Given the description of an element on the screen output the (x, y) to click on. 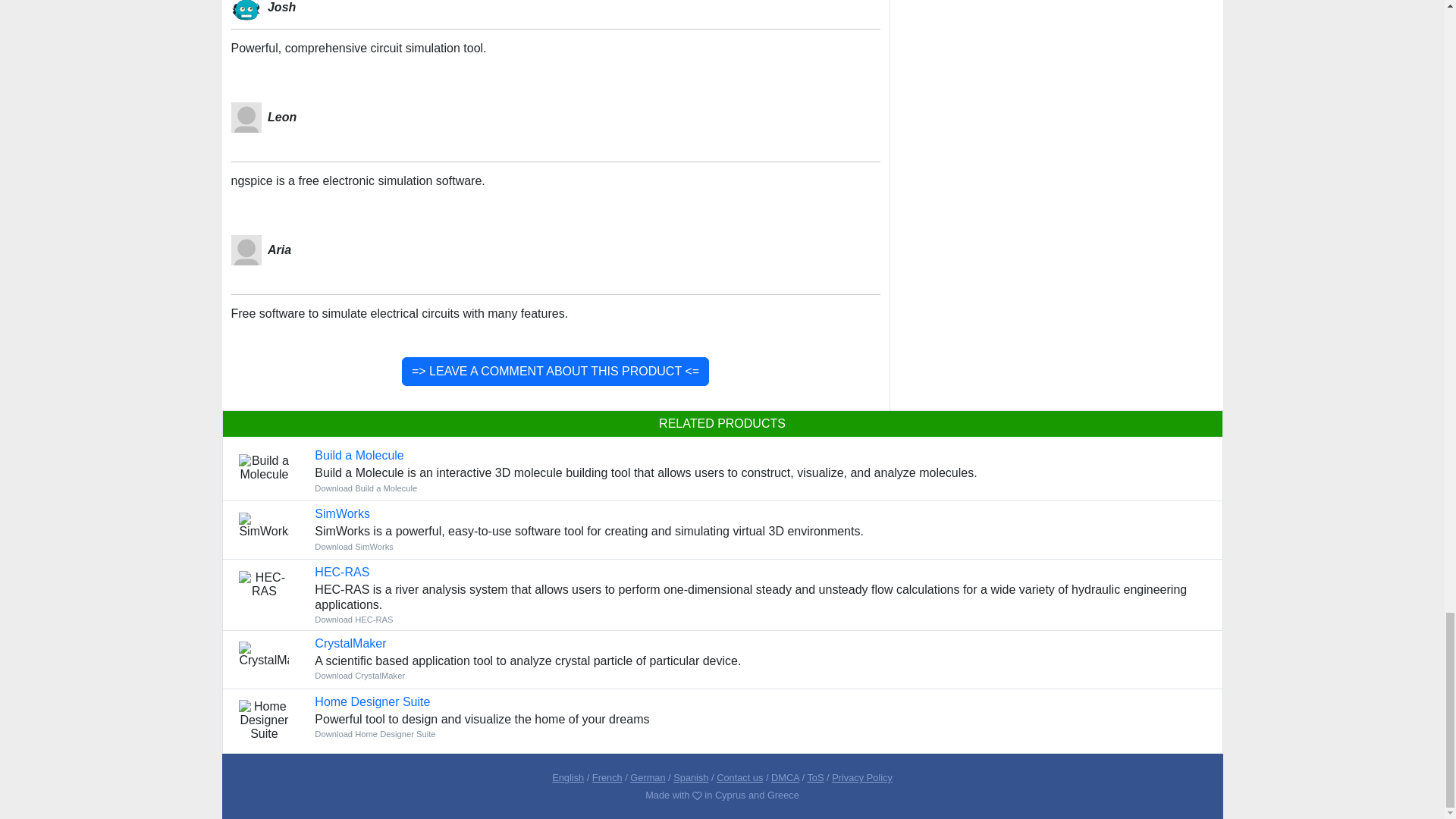
Download Home Designer Suite (374, 733)
French (607, 777)
SimWorks (341, 513)
Download SimWorks (341, 513)
Download HEC-RAS (353, 619)
ToS (815, 777)
Download HEC-RAS (341, 571)
Build a Molecule (358, 454)
English (567, 777)
Download Build a Molecule (365, 488)
Home Designer Suite (371, 701)
Download CrystalMaker (359, 675)
Download CrystalMaker (349, 643)
Download SimWorks (353, 546)
Contact us (739, 777)
